Given the description of an element on the screen output the (x, y) to click on. 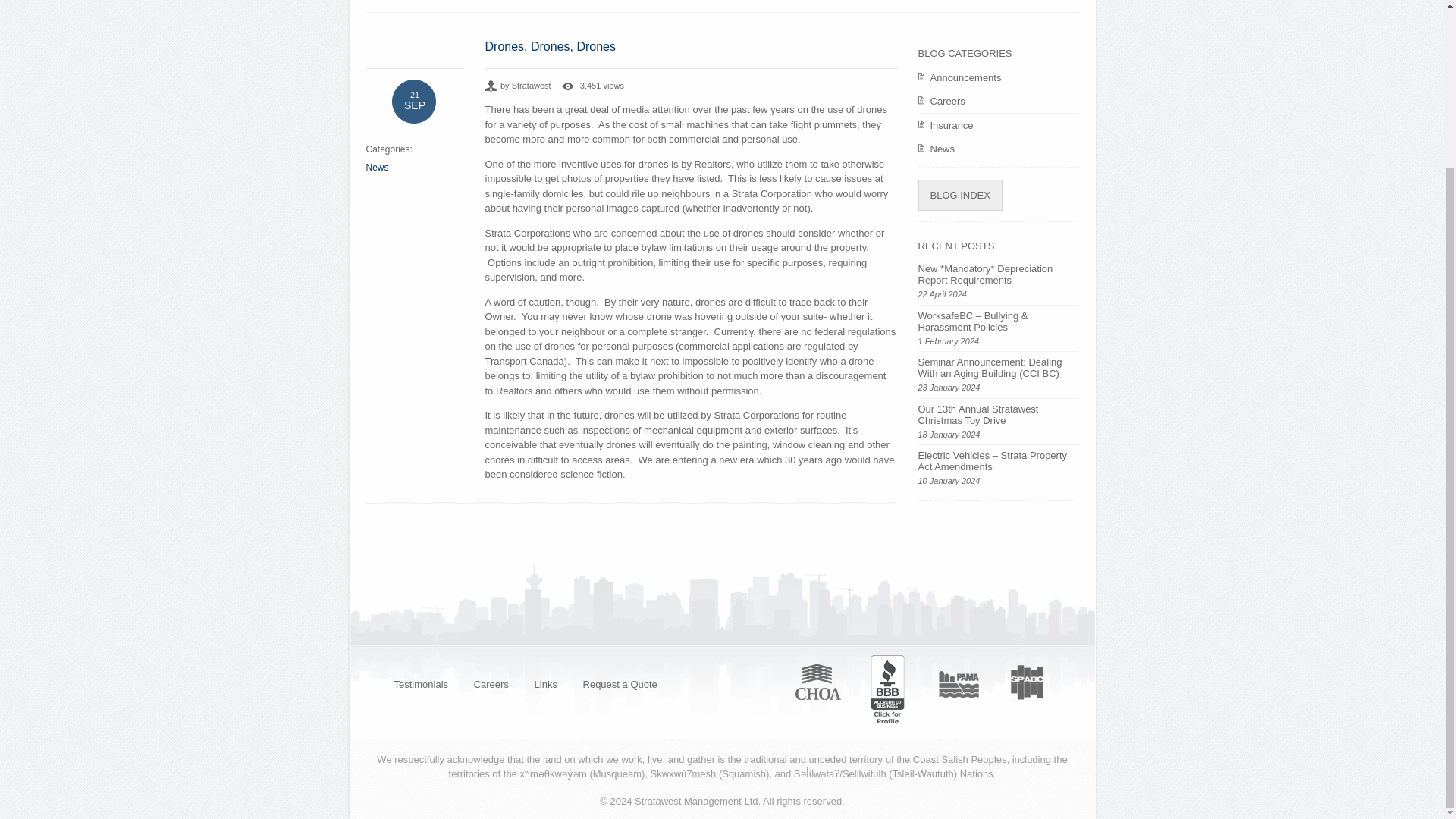
News (376, 166)
Announcements (997, 77)
Careers (997, 101)
News (997, 149)
Testimonials (420, 683)
Careers (491, 683)
BLOG INDEX (959, 195)
Links (545, 683)
Request a Quote (620, 683)
Insurance (997, 124)
